Given the description of an element on the screen output the (x, y) to click on. 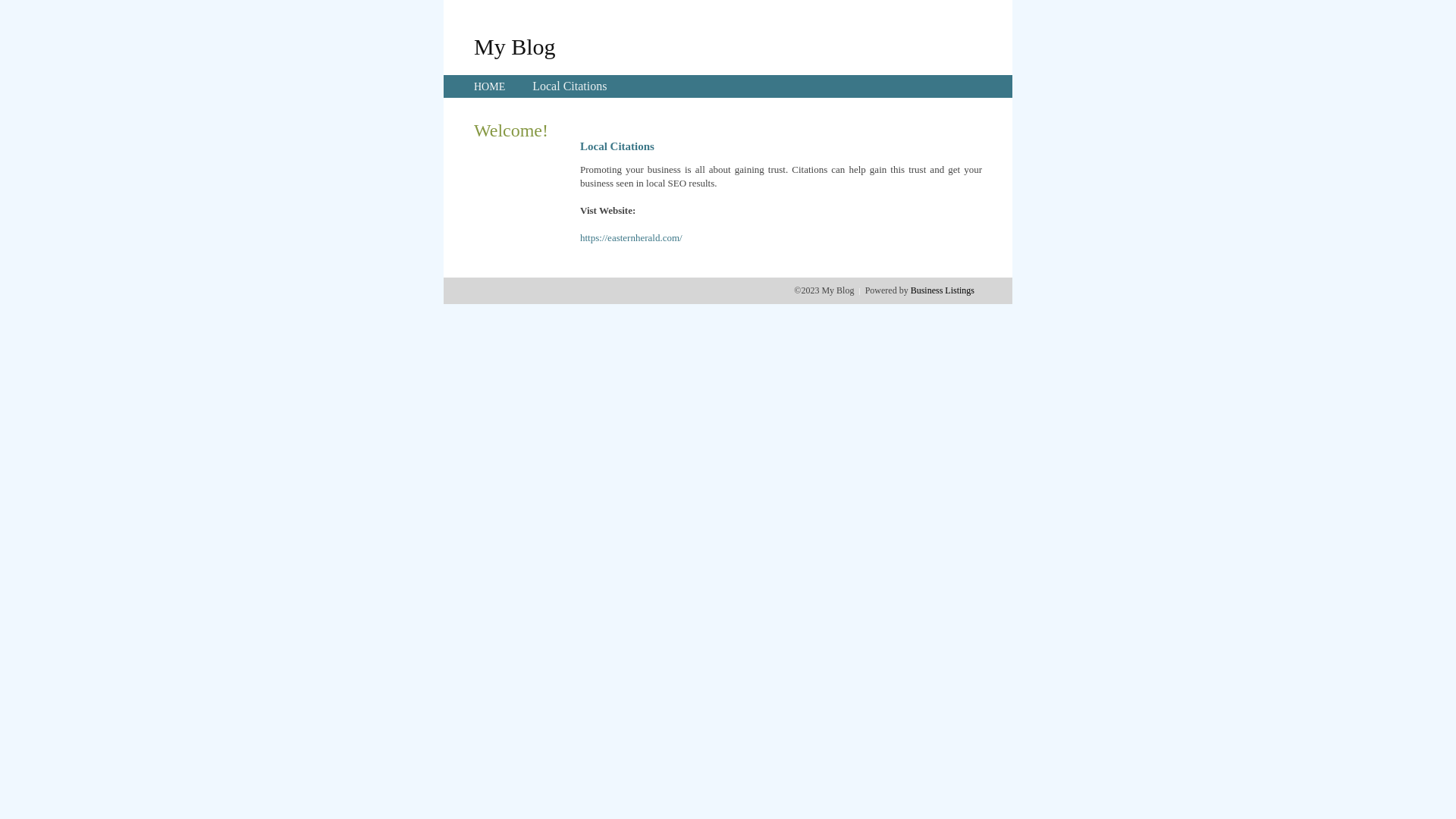
Business Listings Element type: text (942, 290)
Local Citations Element type: text (569, 85)
https://easternherald.com/ Element type: text (631, 237)
My Blog Element type: text (514, 46)
HOME Element type: text (489, 86)
